Given the description of an element on the screen output the (x, y) to click on. 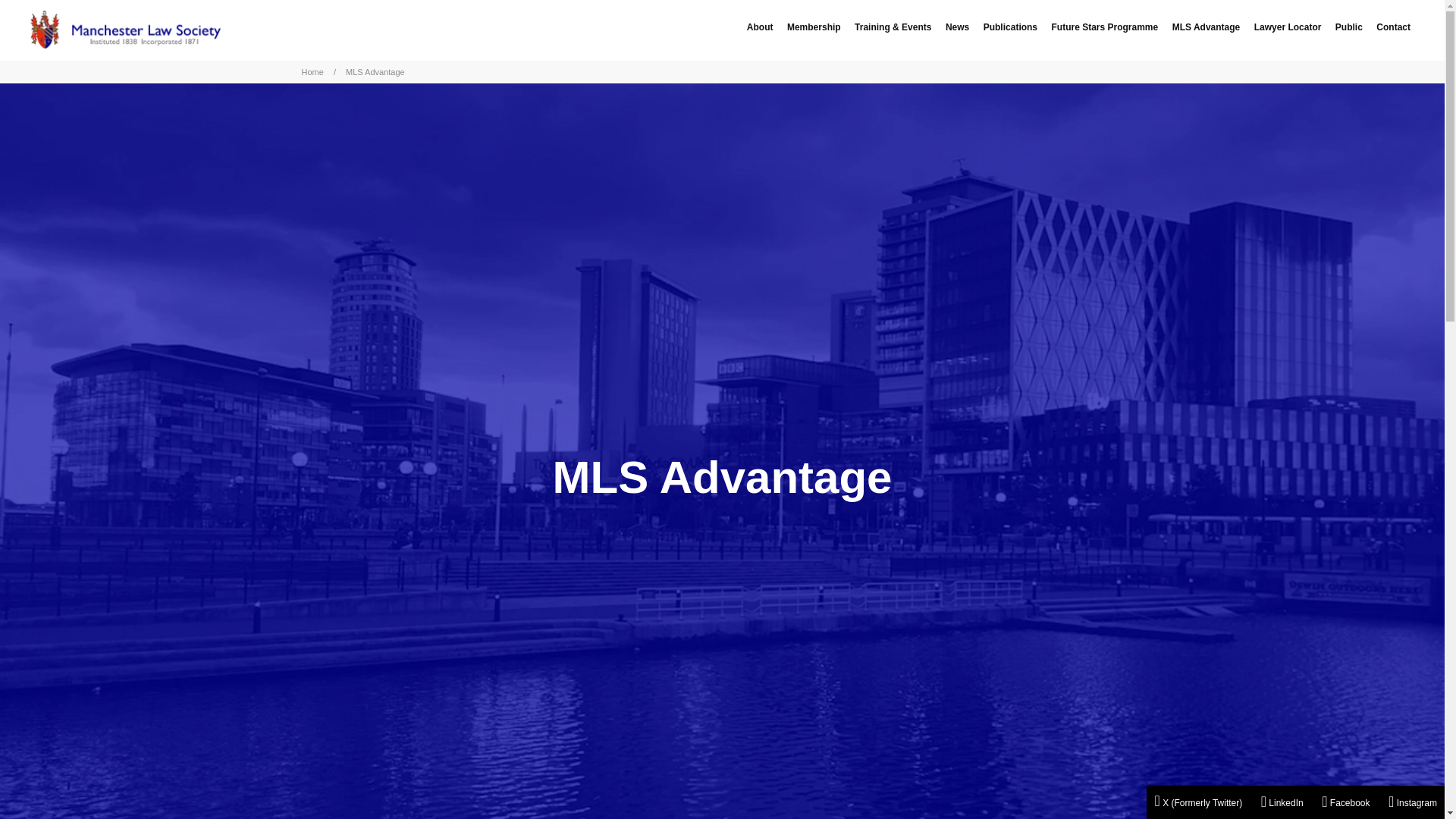
About (759, 27)
Public (1349, 27)
Membership (813, 27)
LinkedIn (1282, 803)
Contact (1393, 27)
Lawyer Locator (1287, 27)
Facebook (1345, 803)
News (957, 27)
Publications (1010, 27)
Home (312, 71)
